Given the description of an element on the screen output the (x, y) to click on. 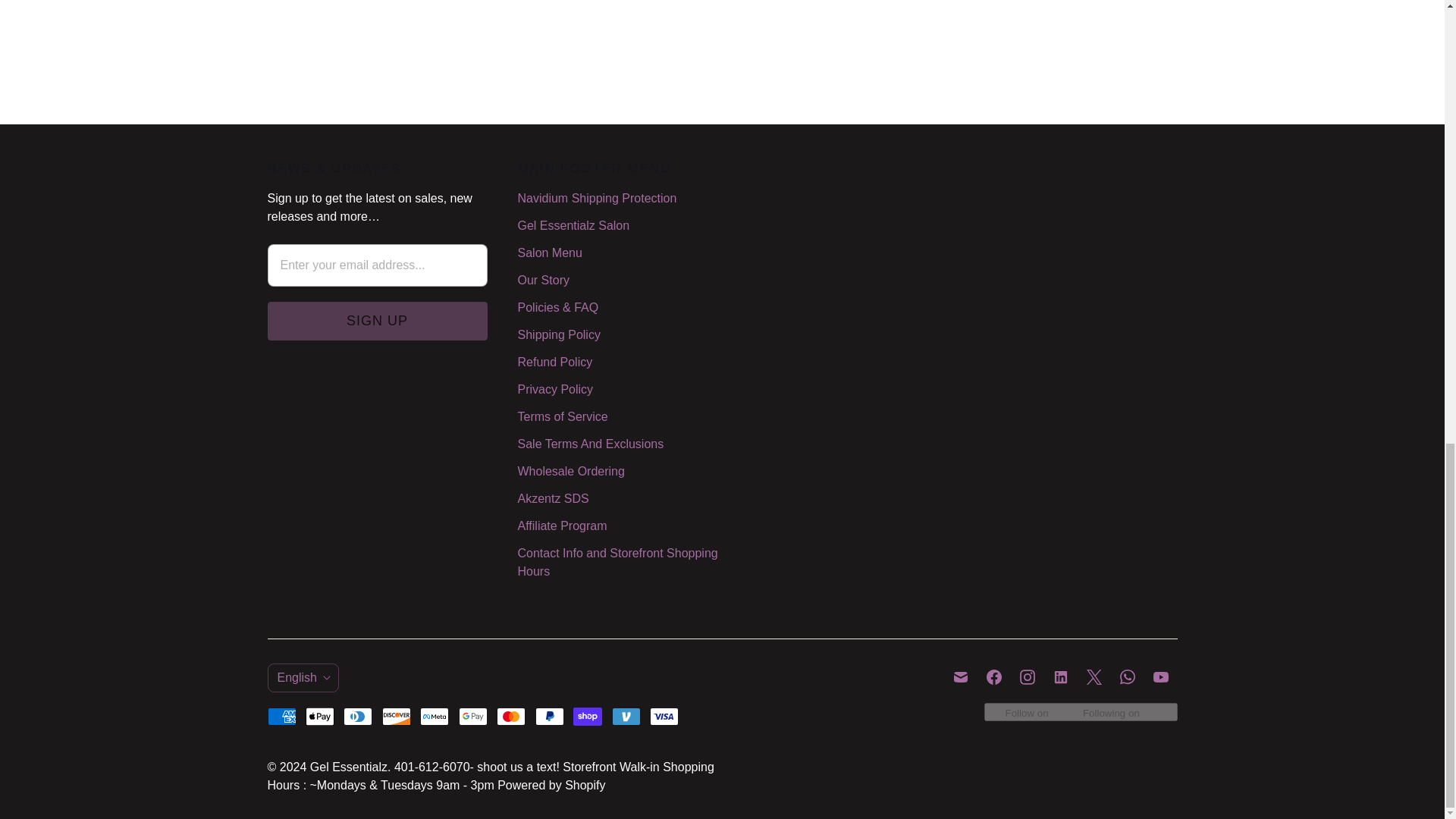
Apple Pay (319, 716)
Google Pay (472, 716)
Diners Club (357, 716)
Mastercard (510, 716)
Discover (395, 716)
American Express (280, 716)
Meta Pay (434, 716)
Sign Up (376, 321)
